Given the description of an element on the screen output the (x, y) to click on. 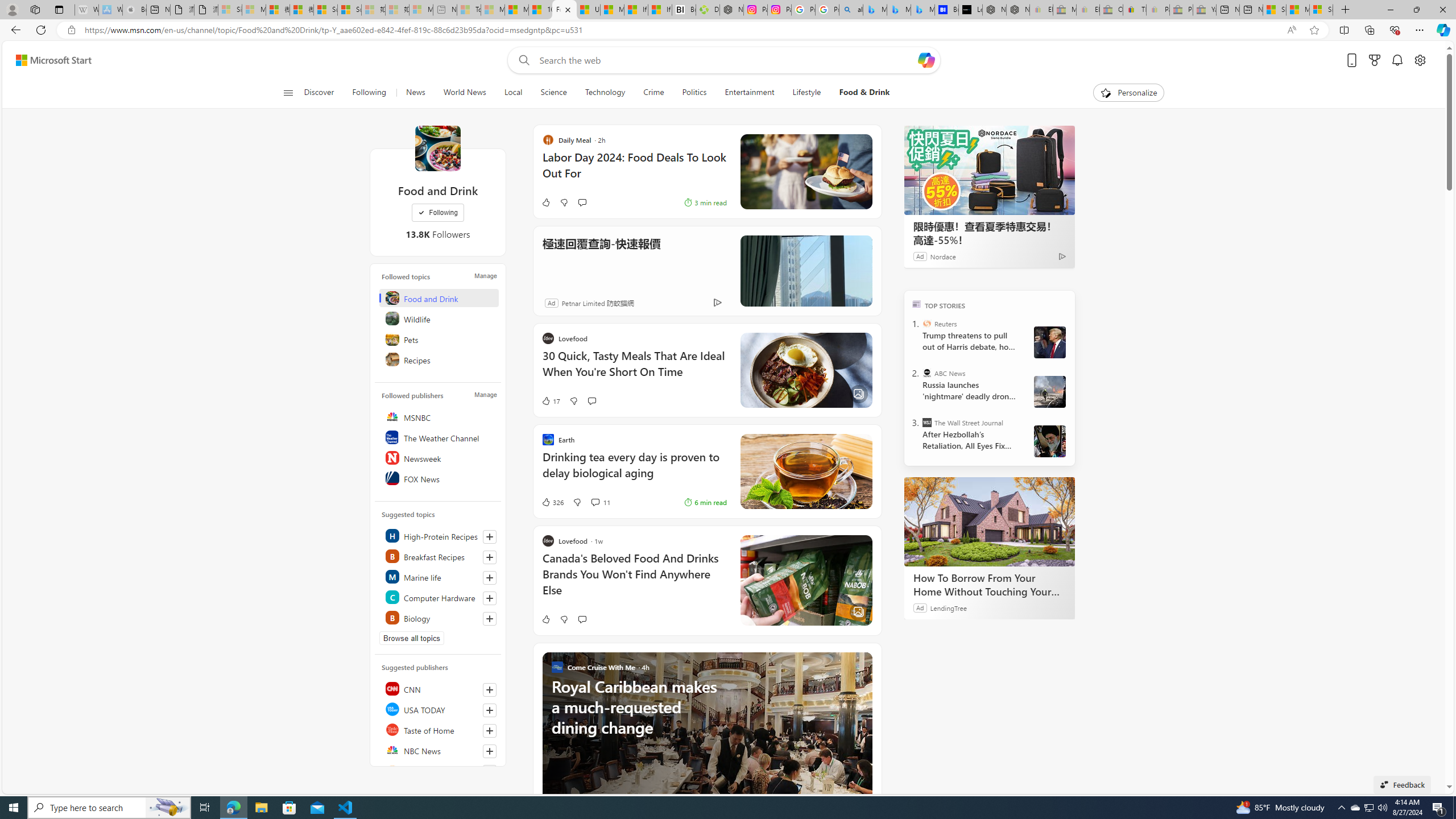
The Wall Street Journal (927, 422)
Descarga Driver Updater (708, 9)
Class: button-glyph (287, 92)
Nordace - Nordace Edin Collection (731, 9)
Science (553, 92)
Science (553, 92)
Wildlife (439, 318)
MSNBC (439, 416)
Top Stories - MSN - Sleeping (469, 9)
Lifestyle (806, 92)
